Given the description of an element on the screen output the (x, y) to click on. 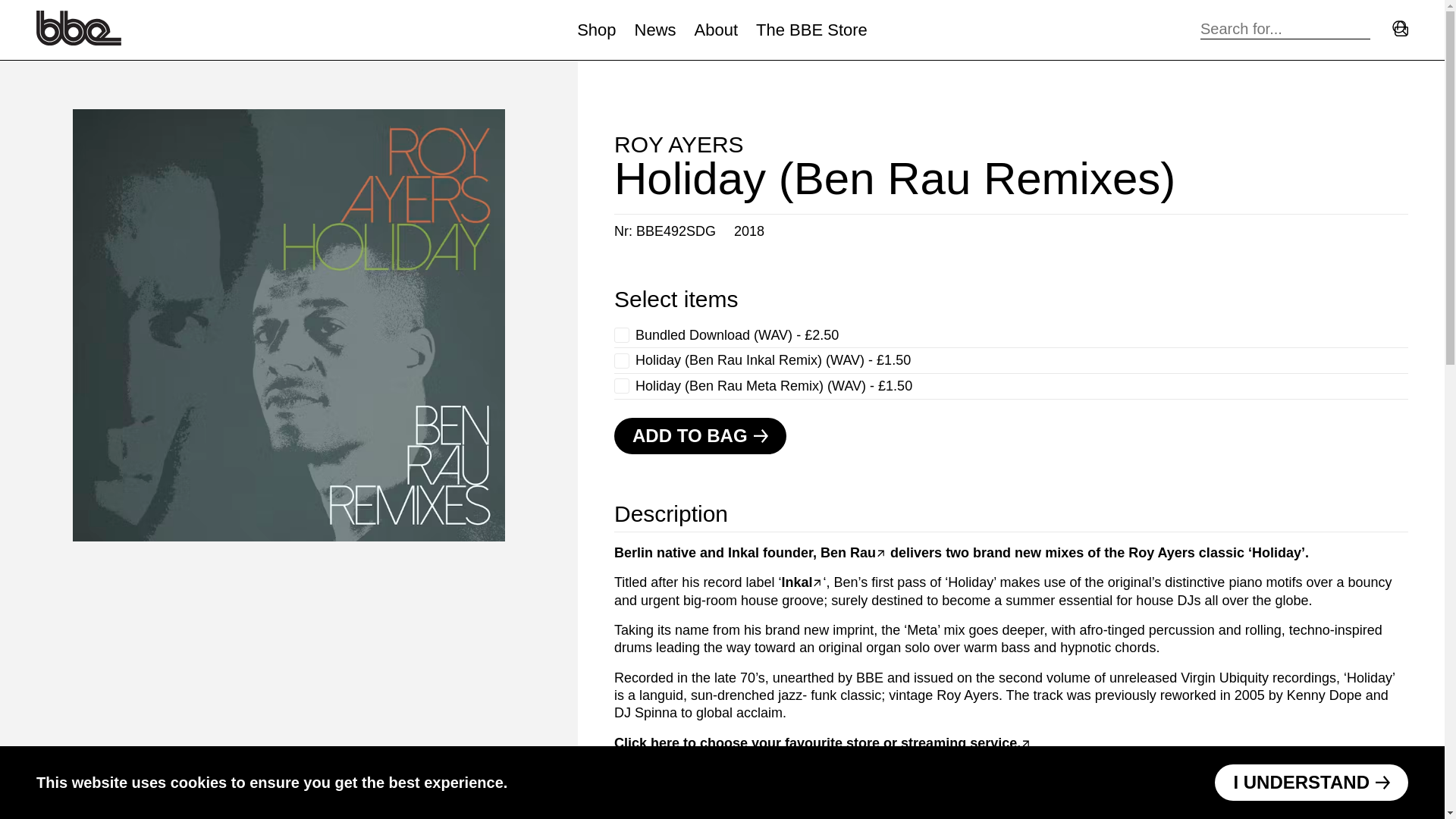
ROY AYERS (679, 144)
Shop (595, 29)
Share (641, 803)
ADD TO BAG (700, 435)
News (655, 29)
Ben Rau (853, 552)
The BBE Store (811, 29)
About (716, 29)
Tweet (711, 803)
Inkal (801, 581)
